Given the description of an element on the screen output the (x, y) to click on. 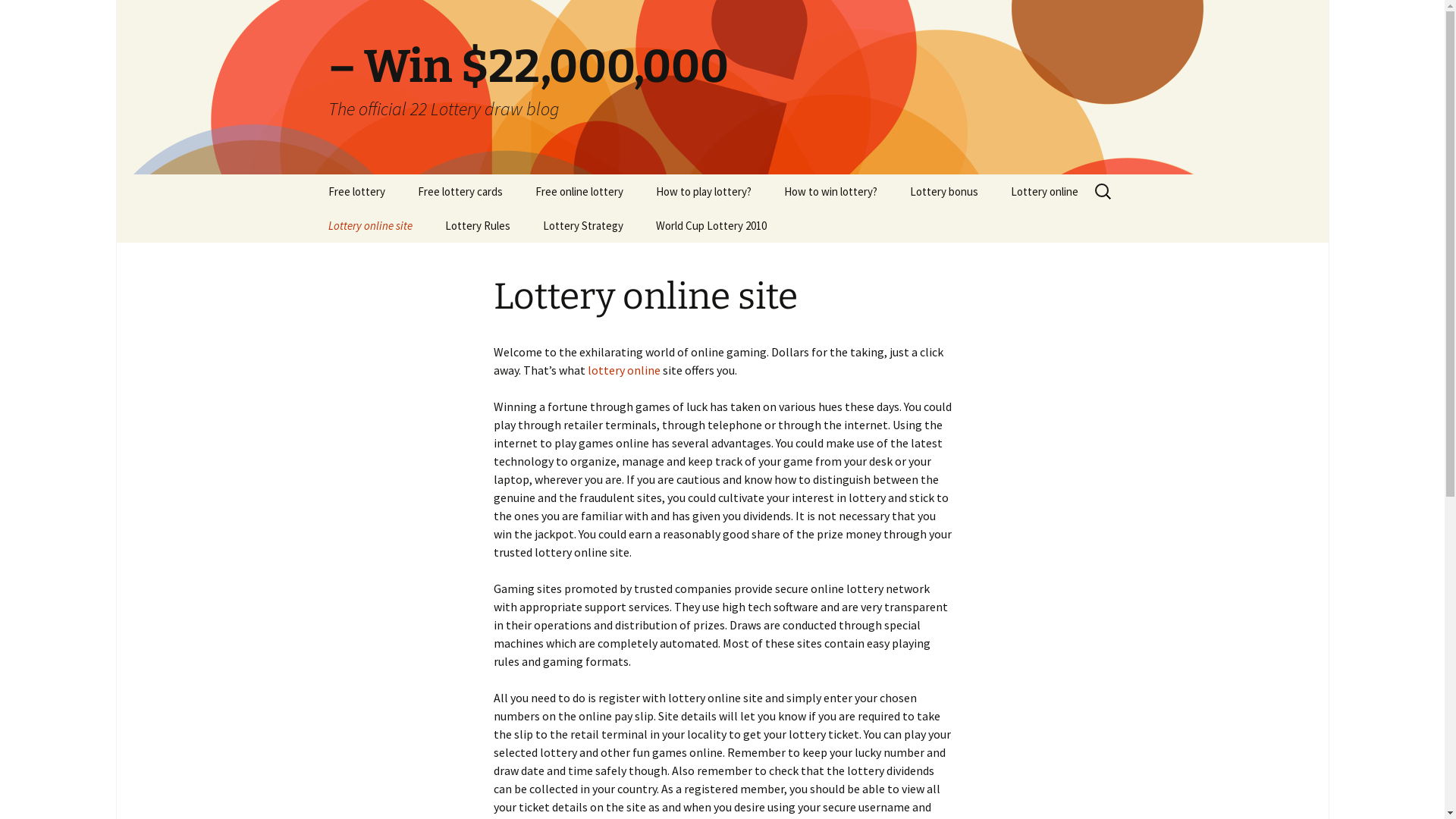
Lottery online site Element type: text (369, 225)
How to win lottery? Element type: text (830, 191)
Skip to content Element type: text (312, 174)
Lottery Strategy Element type: text (582, 225)
How to play lottery? Element type: text (702, 191)
Free lottery cards Element type: text (459, 191)
Free online lottery Element type: text (579, 191)
Lottery online Element type: text (1043, 191)
Free lottery Element type: text (355, 191)
Lottery bonus Element type: text (943, 191)
Lottery Rules Element type: text (476, 225)
Search Element type: text (18, 16)
lottery online Element type: text (622, 369)
World Cup Lottery 2010 Element type: text (710, 225)
